Given the description of an element on the screen output the (x, y) to click on. 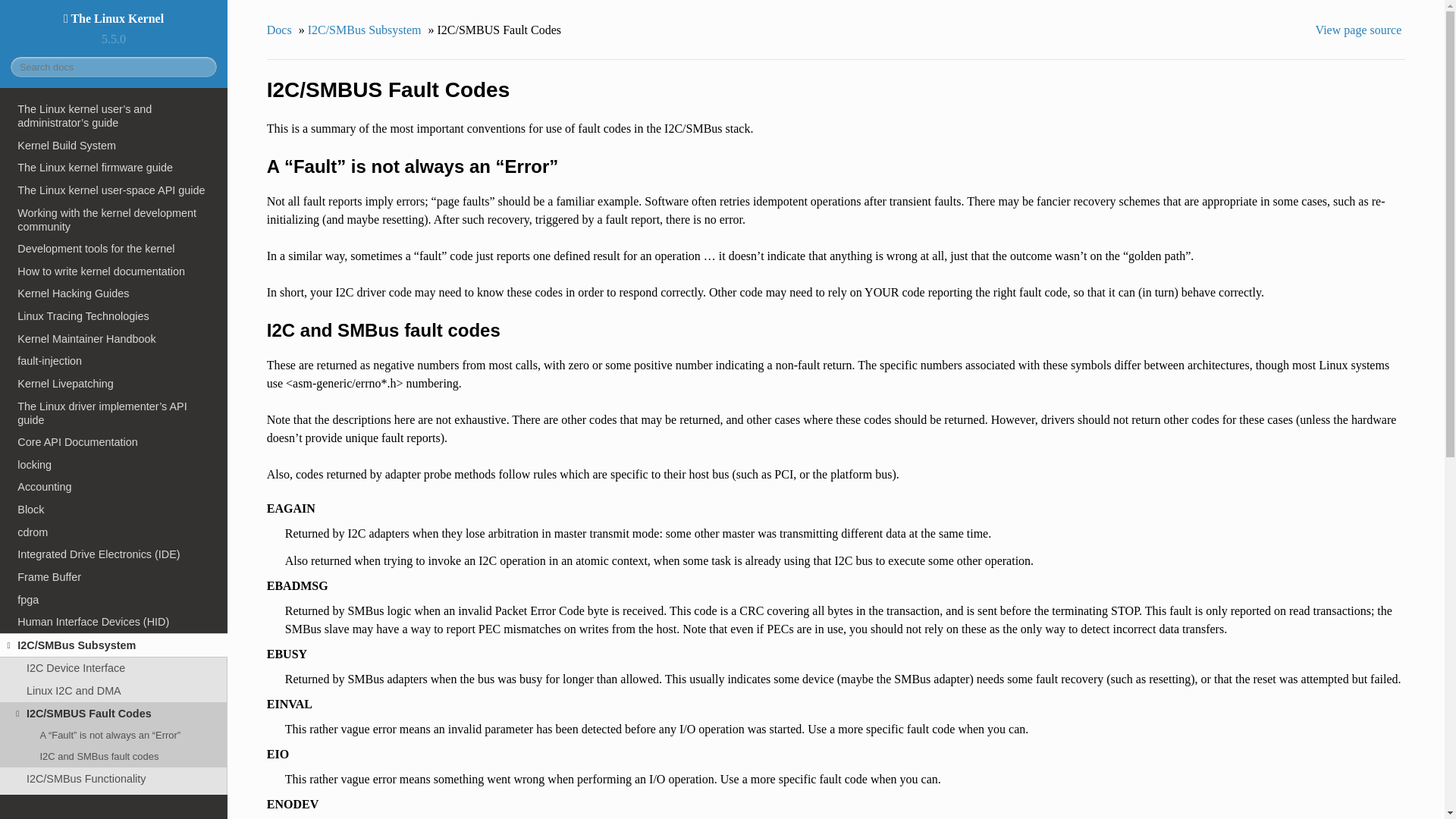
cdrom (113, 531)
I2C and SMBus fault codes (113, 756)
Core API Documentation (113, 441)
Kernel Livepatching (113, 383)
Kernel Build System (113, 145)
Linux I2C fault injection (113, 801)
The Linux kernel user-space API guide (113, 190)
Kernel Hacking Guides (113, 293)
fpga (113, 599)
locking (113, 464)
How to write kernel documentation (113, 271)
Block (113, 508)
The Linux Kernel (113, 18)
I2C Device Interface (113, 668)
Accounting (113, 486)
